Given the description of an element on the screen output the (x, y) to click on. 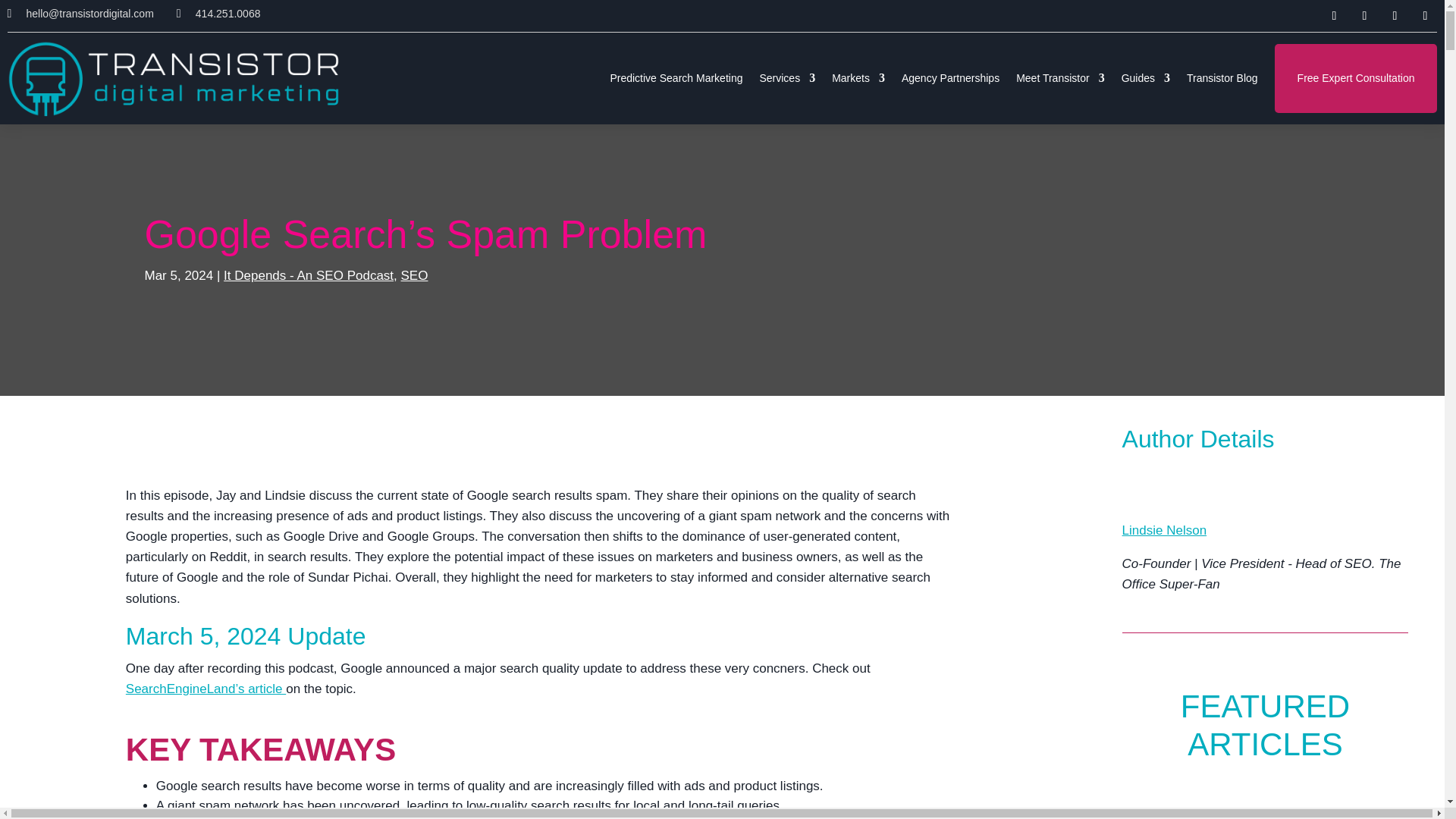
Follow on X (1393, 15)
Follow on Spotify (1424, 15)
Agency Partnerships (949, 78)
Follow on LinkedIn (1333, 15)
It Depends - An SEO Podcast (308, 275)
Free Expert Consultation (1356, 78)
Predictive Search Marketing (676, 78)
Follow on Facebook (1363, 15)
Meet Transistor (1059, 78)
SEO (414, 275)
